Given the description of an element on the screen output the (x, y) to click on. 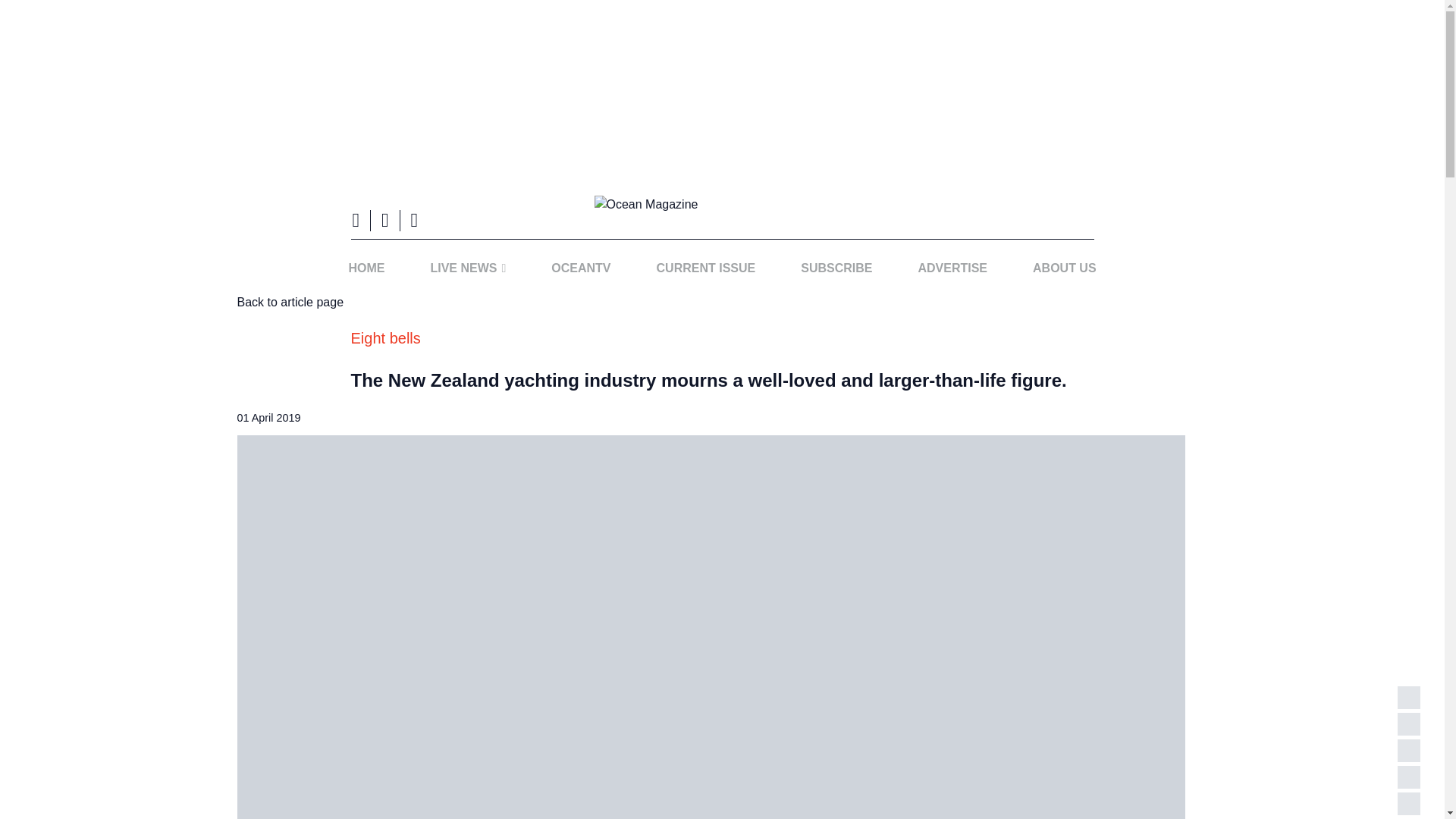
CURRENT ISSUE (705, 268)
OCEANTV (580, 268)
HOME (365, 268)
Advertise (952, 268)
Ocean Magazine (722, 204)
LIVE NEWS (467, 268)
Current Issue (705, 268)
Back to article page (289, 301)
About Us (1064, 268)
Home (365, 268)
